Given the description of an element on the screen output the (x, y) to click on. 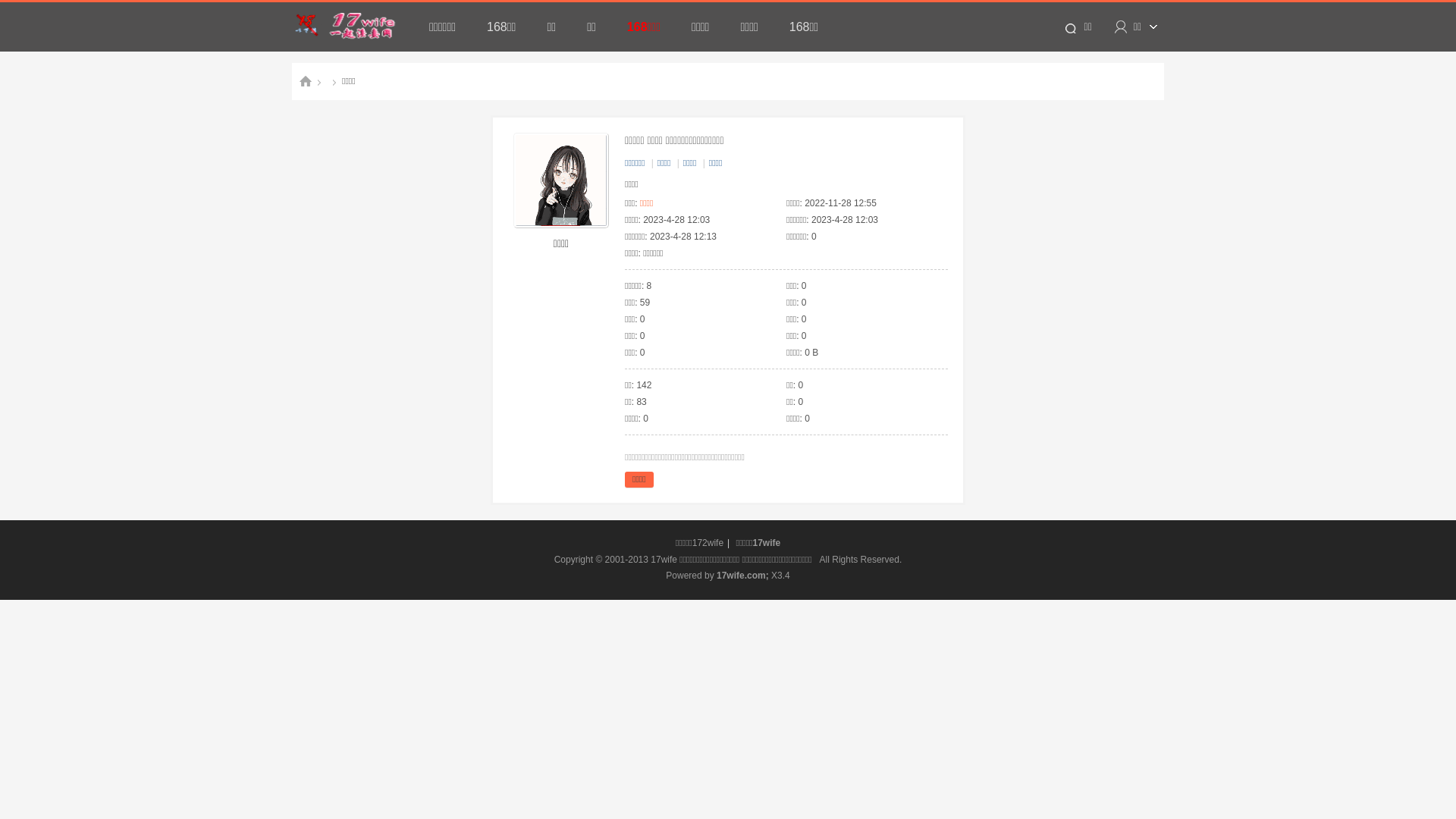
17wife.com; Element type: text (742, 575)
